Given the description of an element on the screen output the (x, y) to click on. 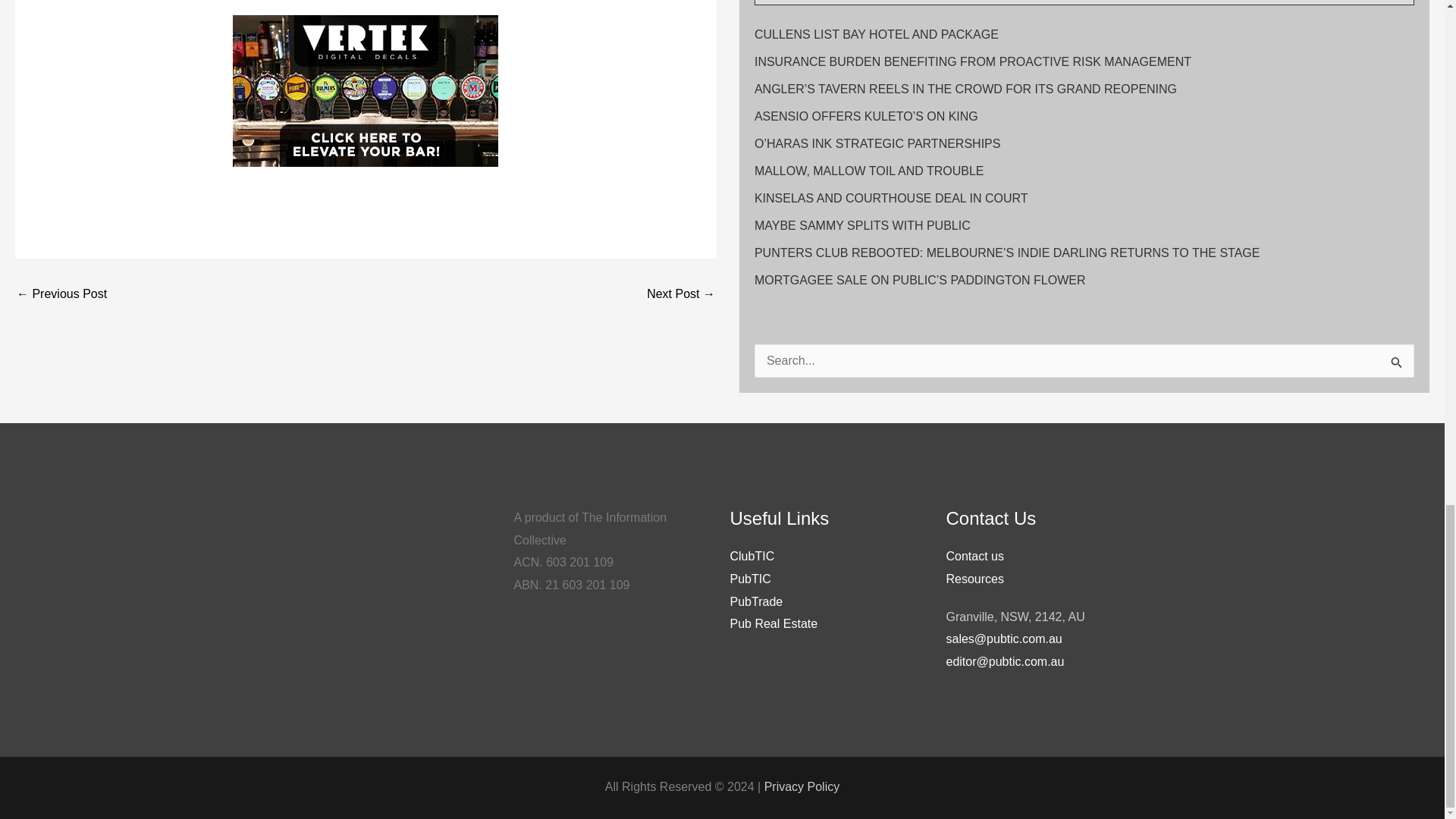
Country pubs need good food too (680, 294)
WHO data reveals true global guzzlers (61, 294)
